Given the description of an element on the screen output the (x, y) to click on. 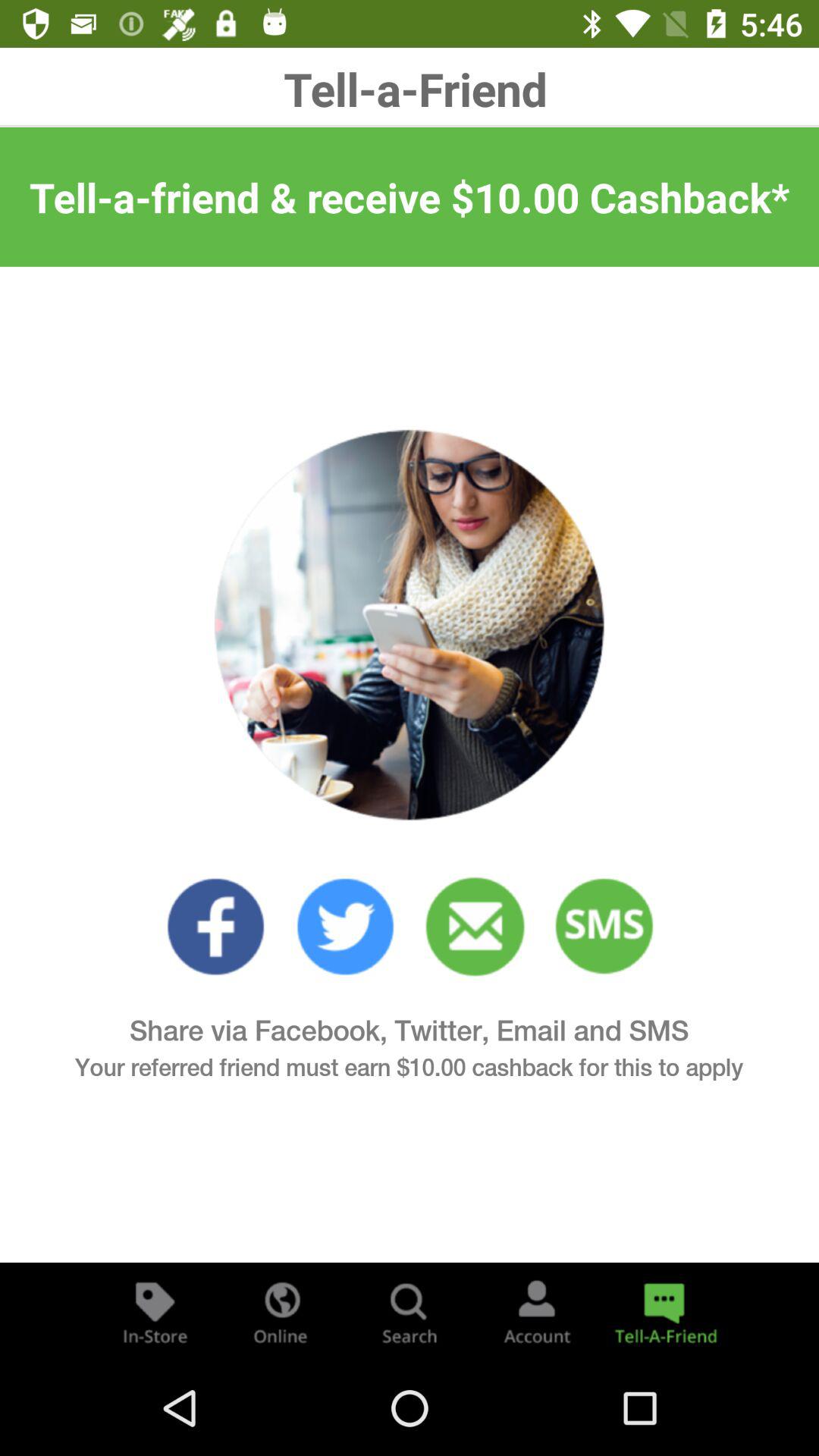
in-store button (154, 1311)
